Given the description of an element on the screen output the (x, y) to click on. 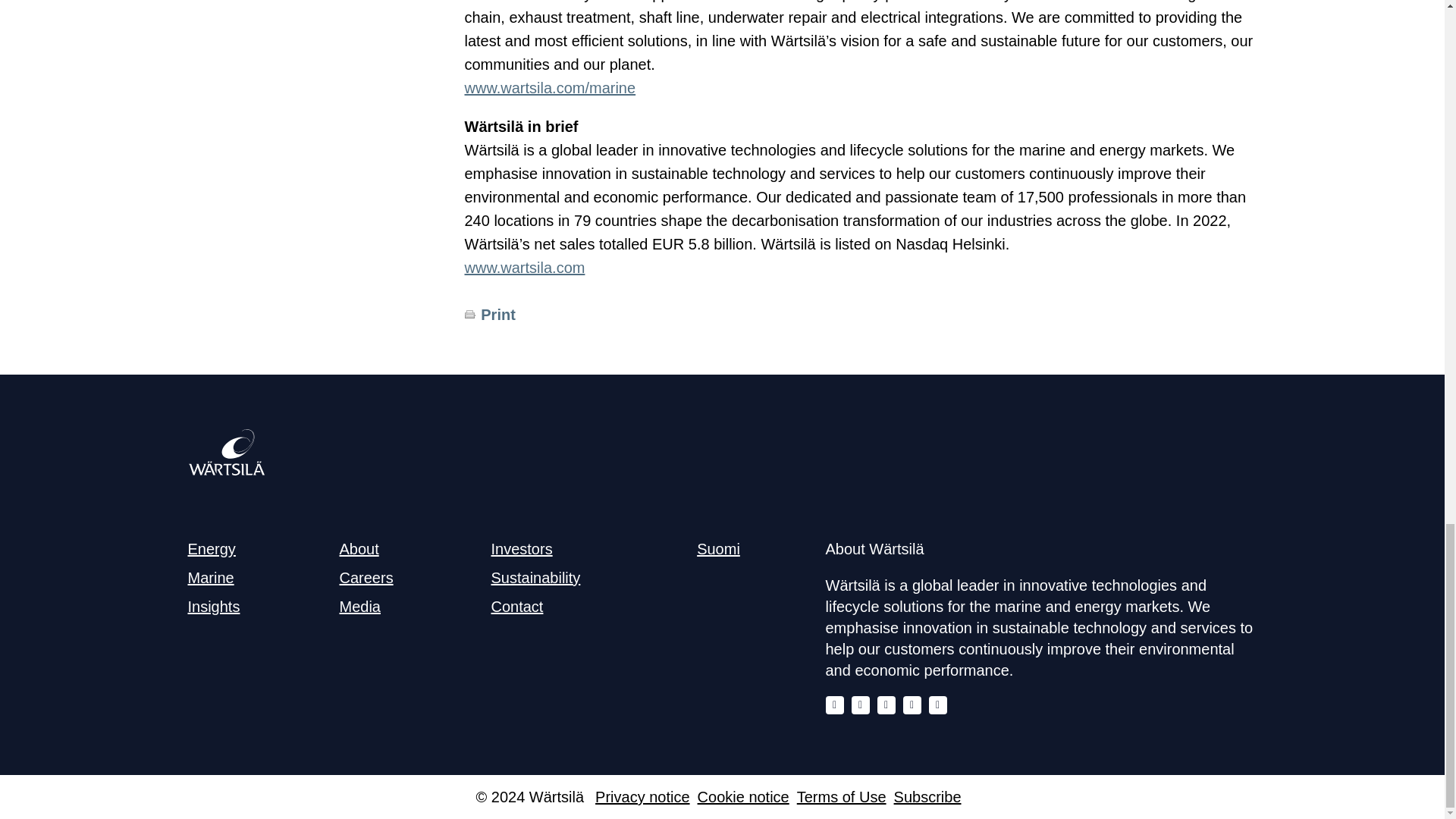
www.wartsila.com (524, 267)
Print (497, 314)
Print (469, 315)
